Given the description of an element on the screen output the (x, y) to click on. 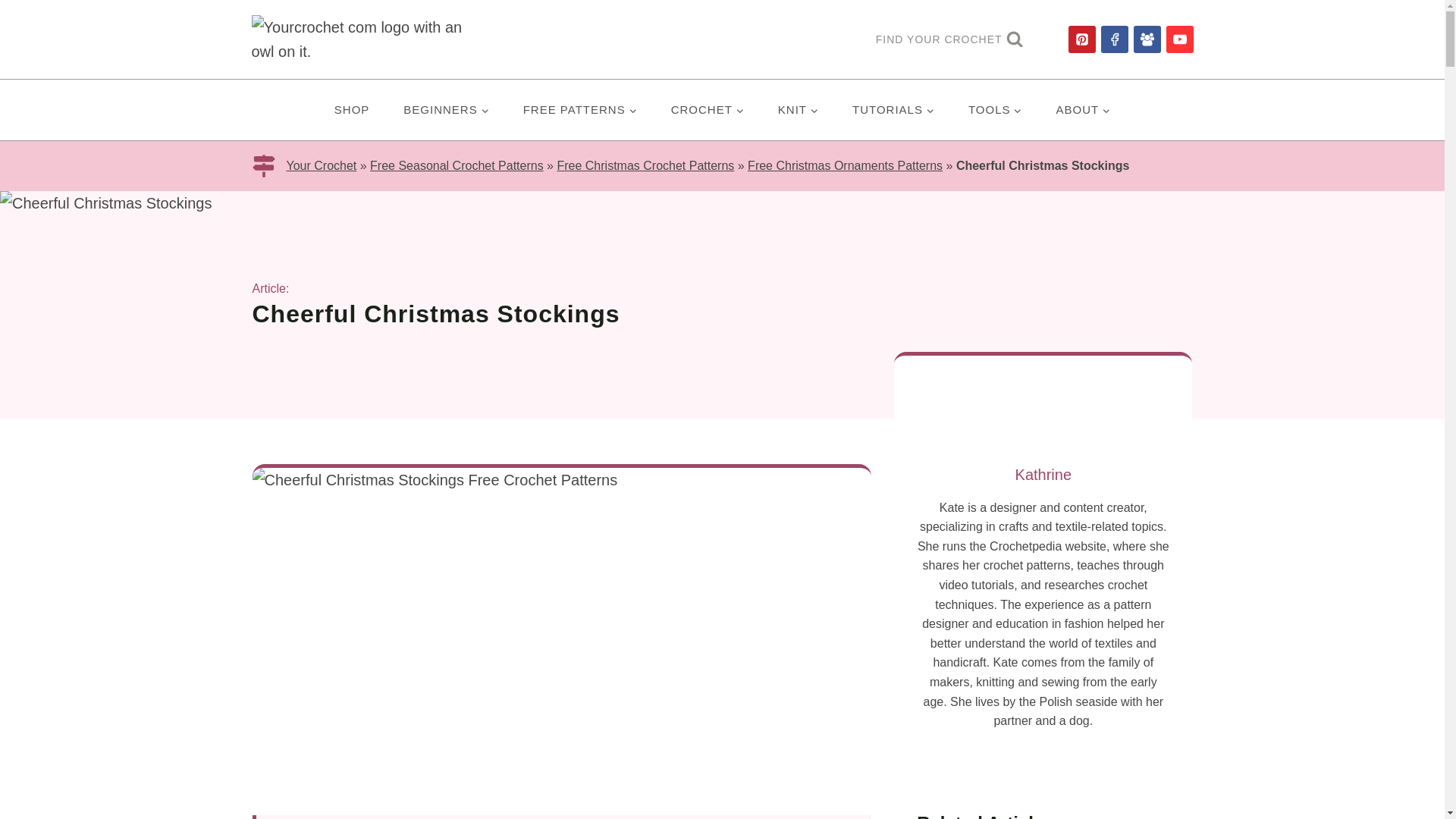
FREE PATTERNS (579, 109)
FIND YOUR CROCHET (949, 39)
CROCHET (706, 109)
SHOP (352, 109)
BEGINNERS (446, 109)
